Given the description of an element on the screen output the (x, y) to click on. 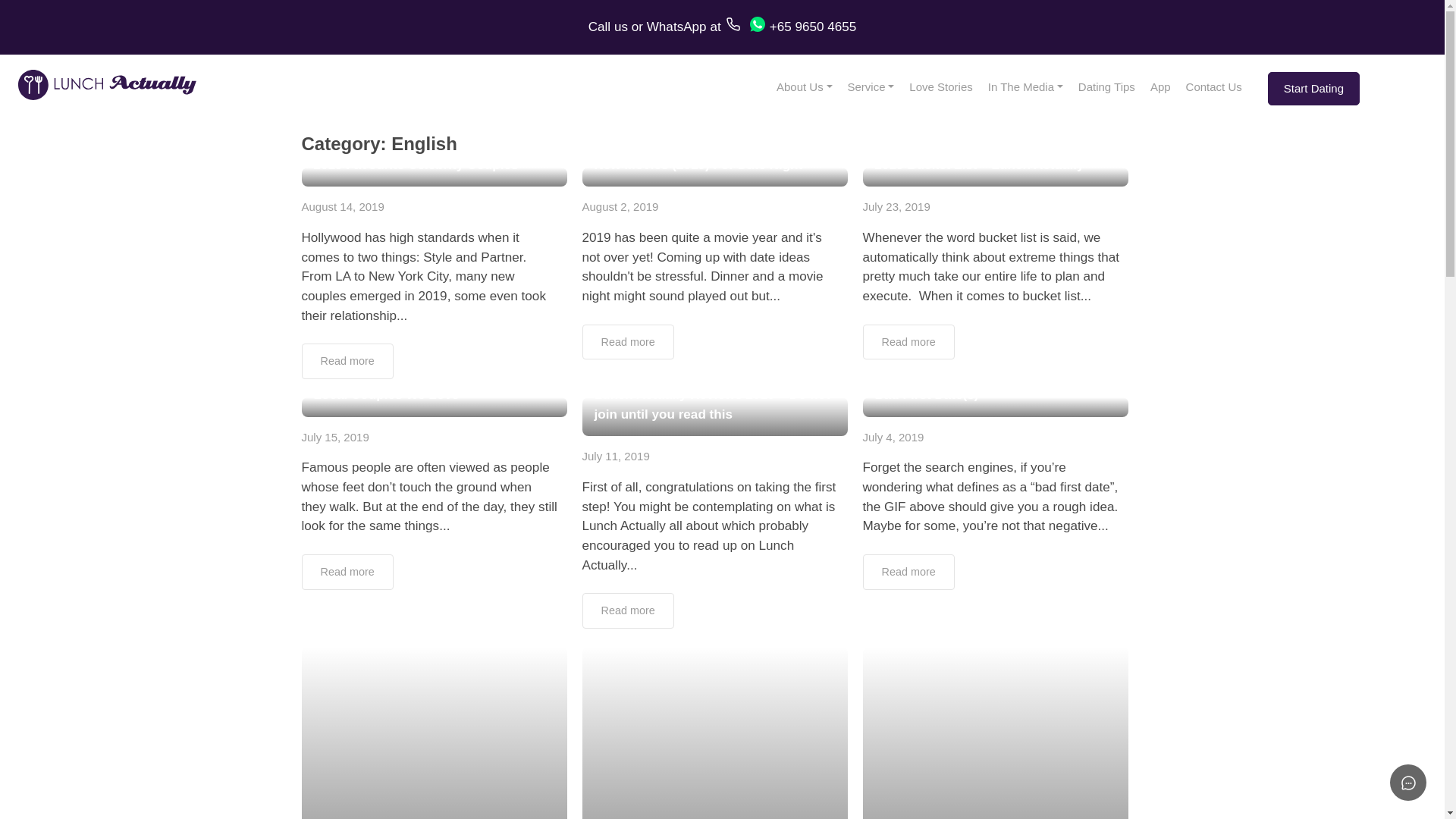
Dating Tips (1106, 87)
Contact Us (1213, 87)
Service (871, 87)
Start Dating (1313, 88)
In The Media (1024, 87)
App (1159, 87)
About Us (804, 87)
Contact Us (1213, 87)
WhatsApp (676, 26)
Call us (607, 26)
Love Stories (940, 87)
About Us (804, 87)
In The Media (1024, 87)
Love Stories (940, 87)
Dating Tips (1106, 87)
